Given the description of an element on the screen output the (x, y) to click on. 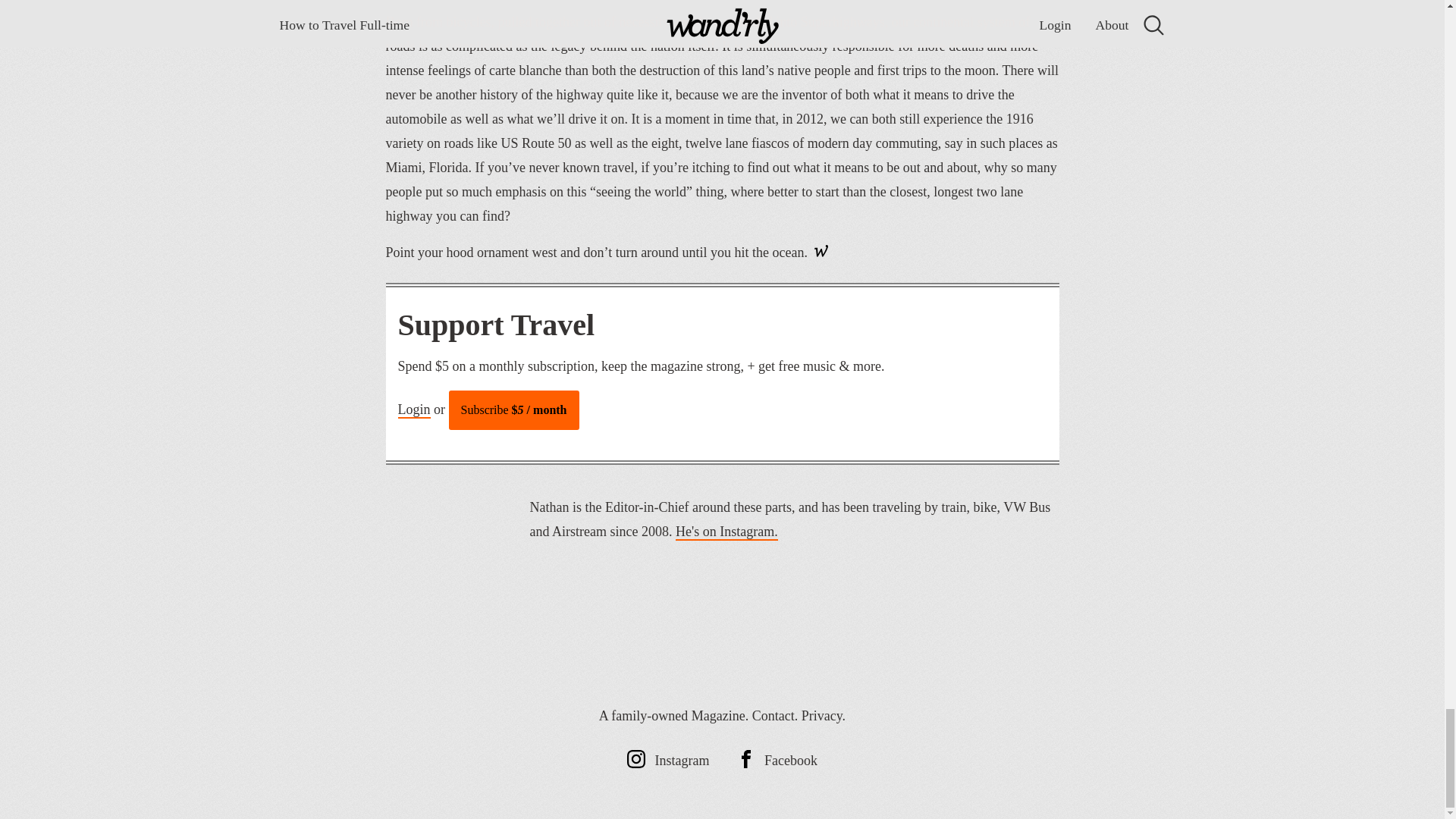
A family-owned Magazine. (673, 715)
Facebook (776, 760)
Privacy. (823, 715)
Login (413, 410)
He's on Instagram. (726, 532)
Contact. (774, 715)
Instagram (668, 760)
